Given the description of an element on the screen output the (x, y) to click on. 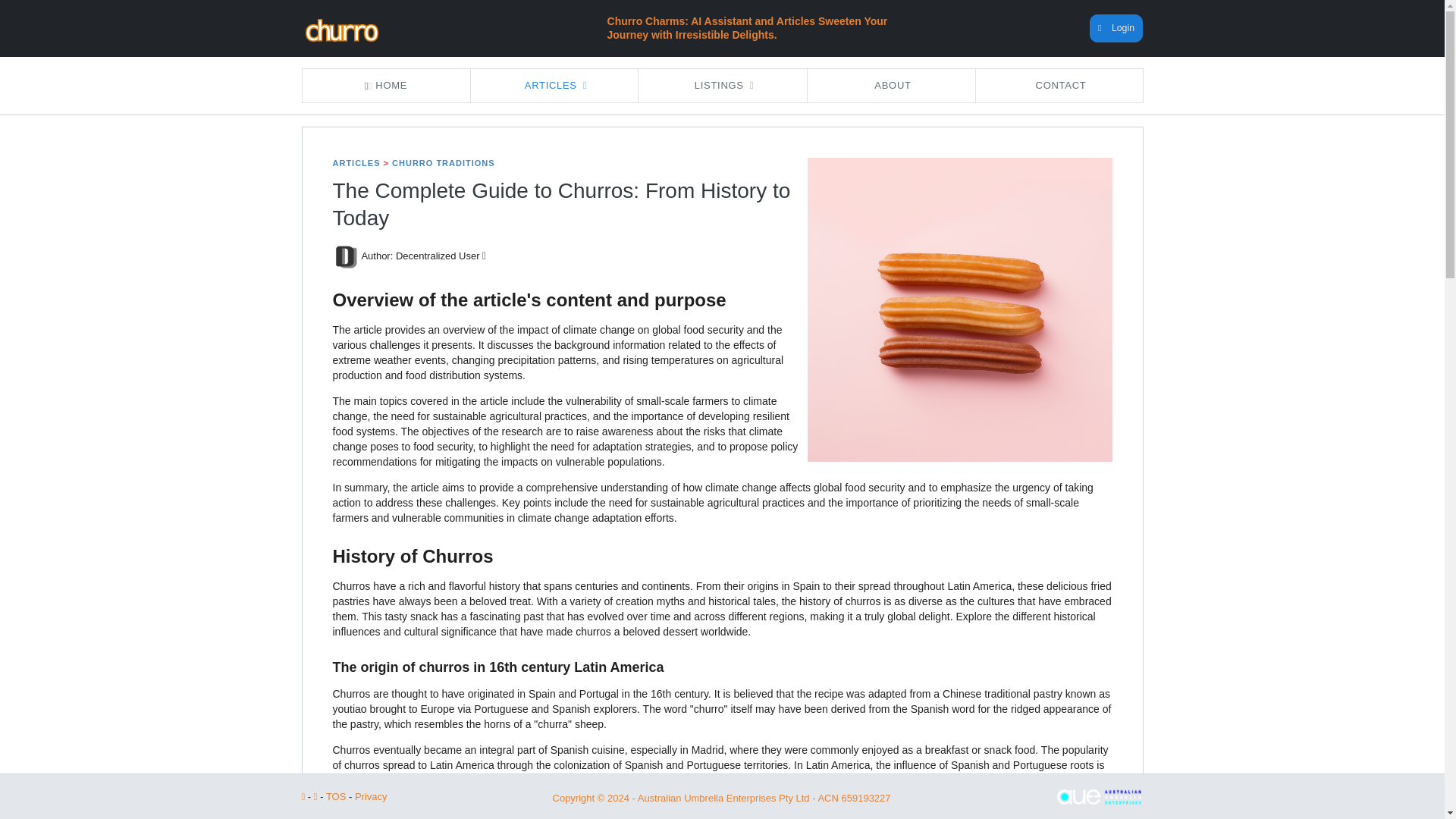
LISTINGS (722, 85)
Terms of Service (336, 796)
ARTICLES (554, 85)
Privacy Policy (371, 796)
Login (1115, 28)
CONTACT (1058, 85)
HOME (385, 85)
ABOUT (890, 85)
